Given the description of an element on the screen output the (x, y) to click on. 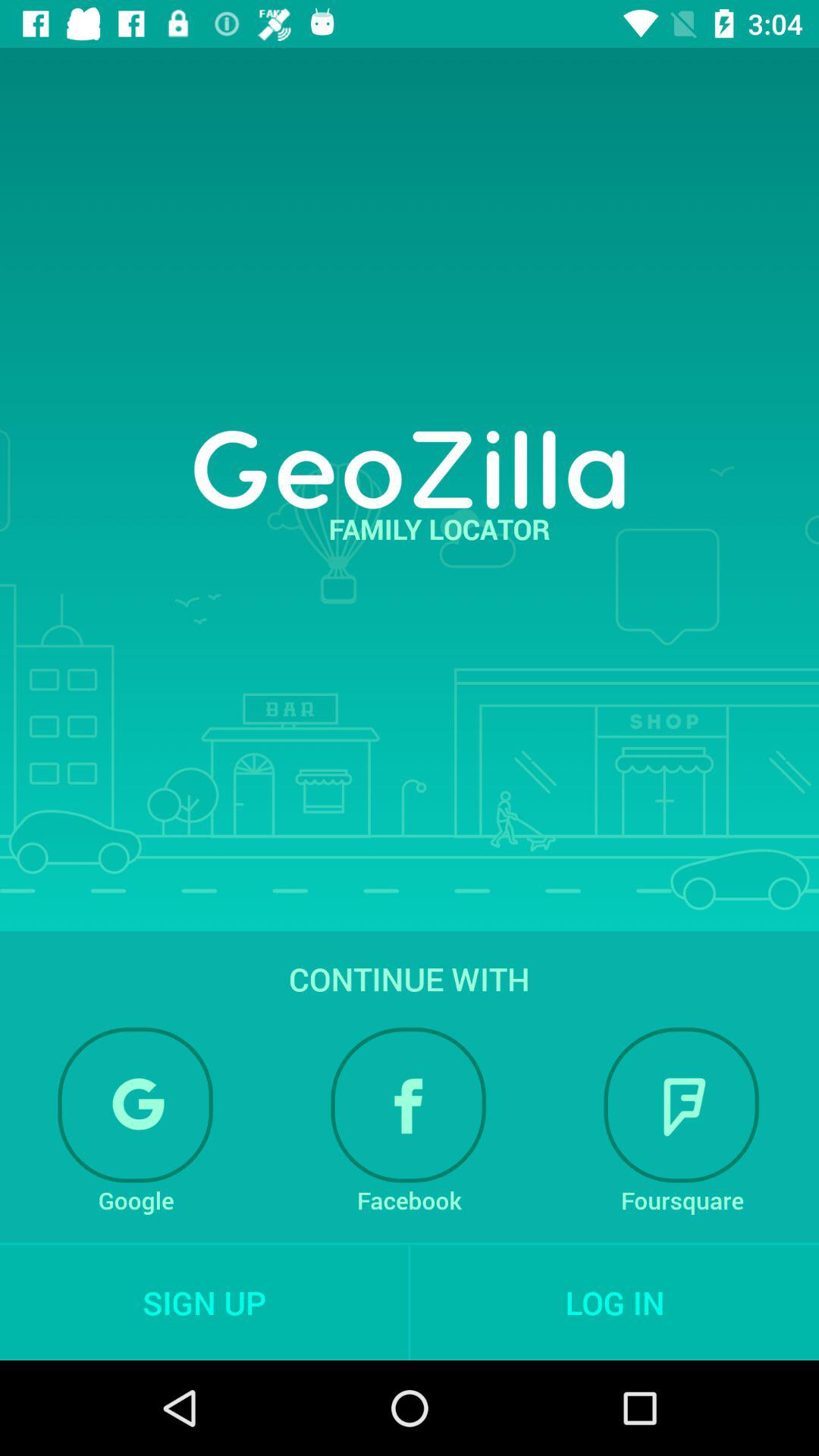
sign in geozilla with your facebook account (408, 1105)
